Given the description of an element on the screen output the (x, y) to click on. 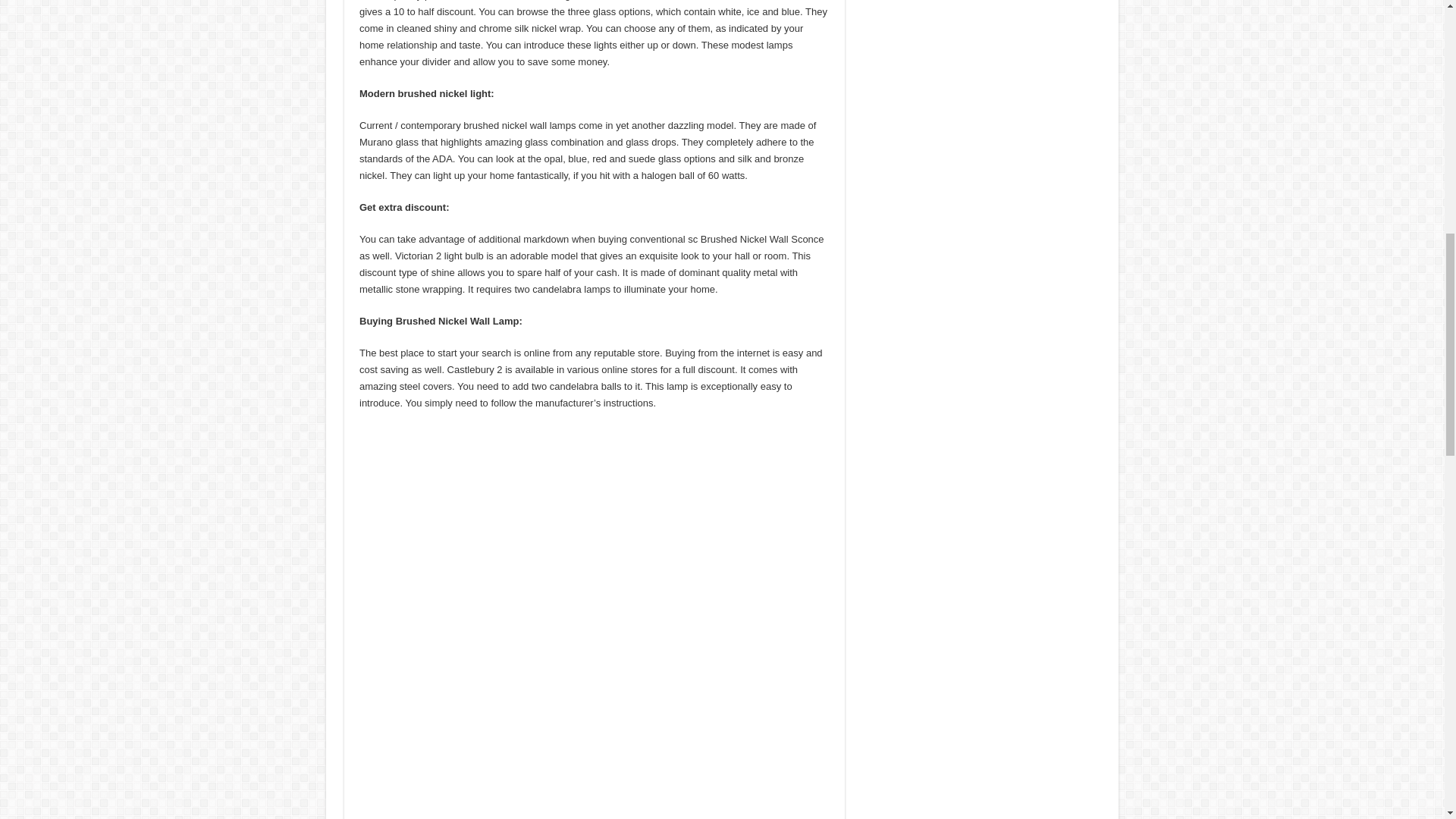
Scroll To Top (1421, 60)
